Given the description of an element on the screen output the (x, y) to click on. 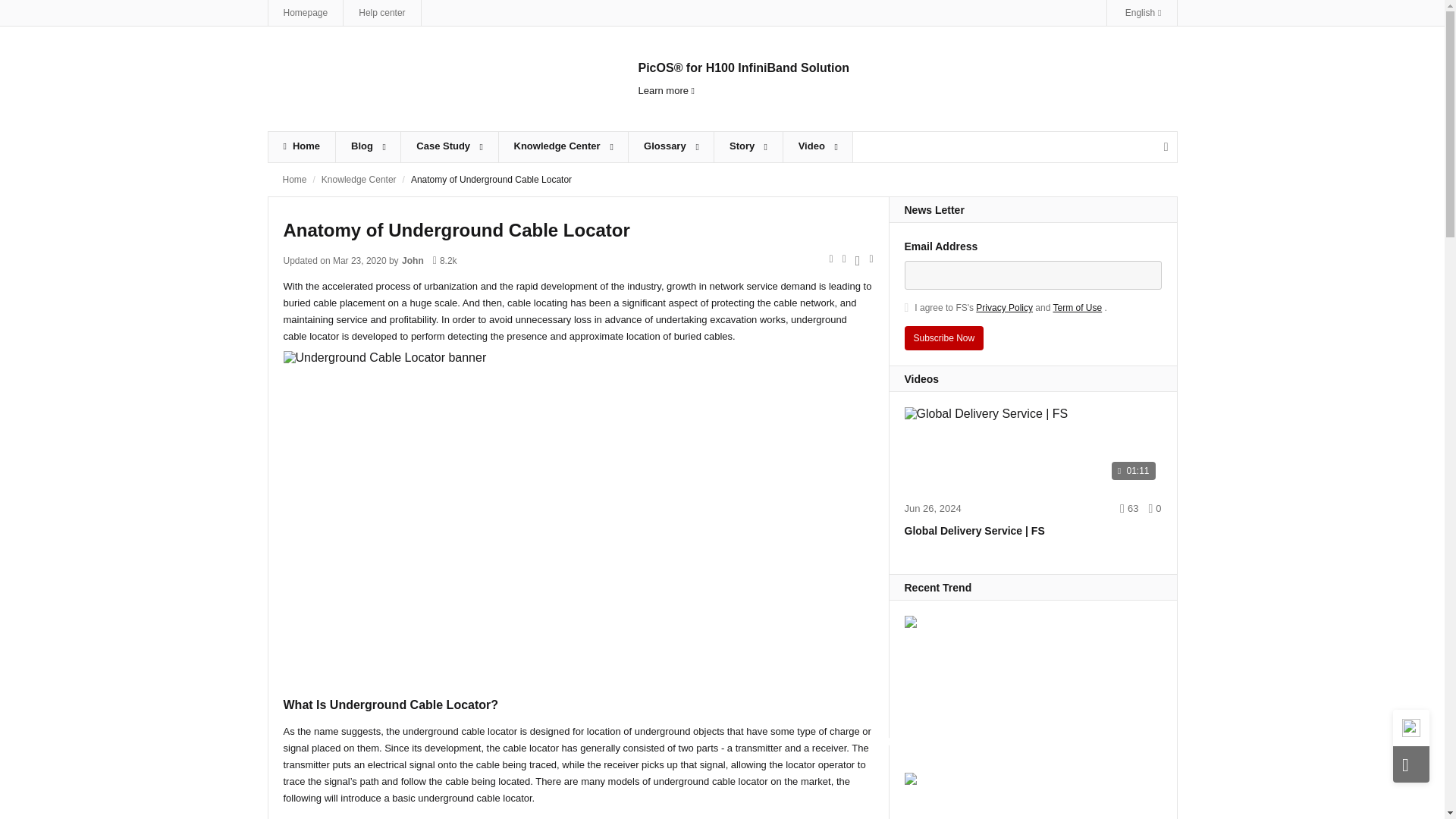
Homepage (306, 12)
Help center (381, 12)
Anatomy of Underground Cable Locator (491, 179)
